Given the description of an element on the screen output the (x, y) to click on. 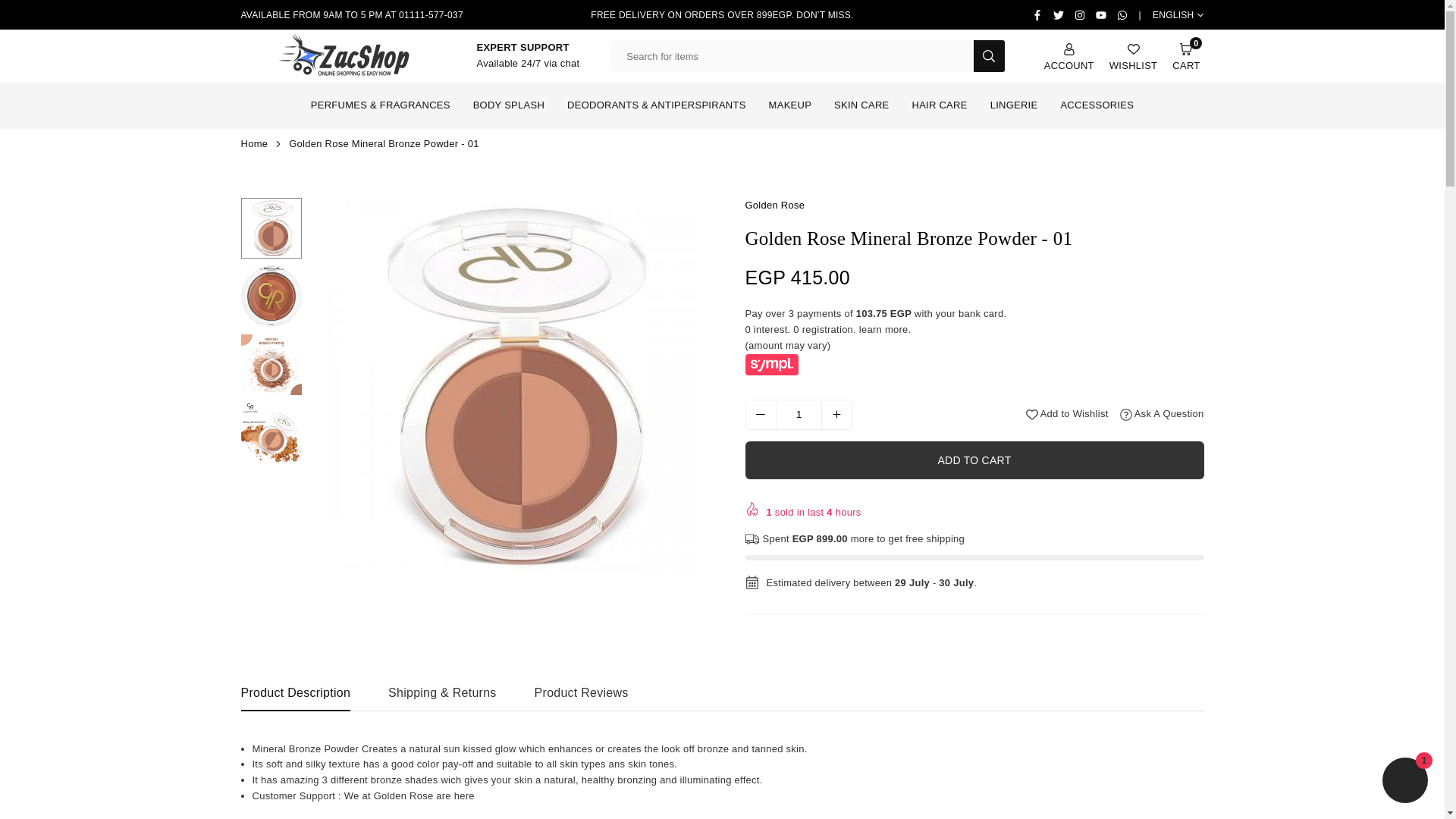
TWITTER (1058, 14)
ENGLISH (1178, 14)
Zacshop on Instagram (1079, 14)
WISHLIST (1133, 56)
ACCOUNT (1069, 56)
MAKEUP (789, 105)
Quantity (797, 414)
SUBMIT (989, 56)
ACCOUNT (1069, 56)
ZACSHOP (343, 55)
Zacshop on Facebook (1037, 14)
Zacshop on YouTube (1185, 56)
Back to the home page (1101, 14)
YOUTUBE (255, 143)
